Given the description of an element on the screen output the (x, y) to click on. 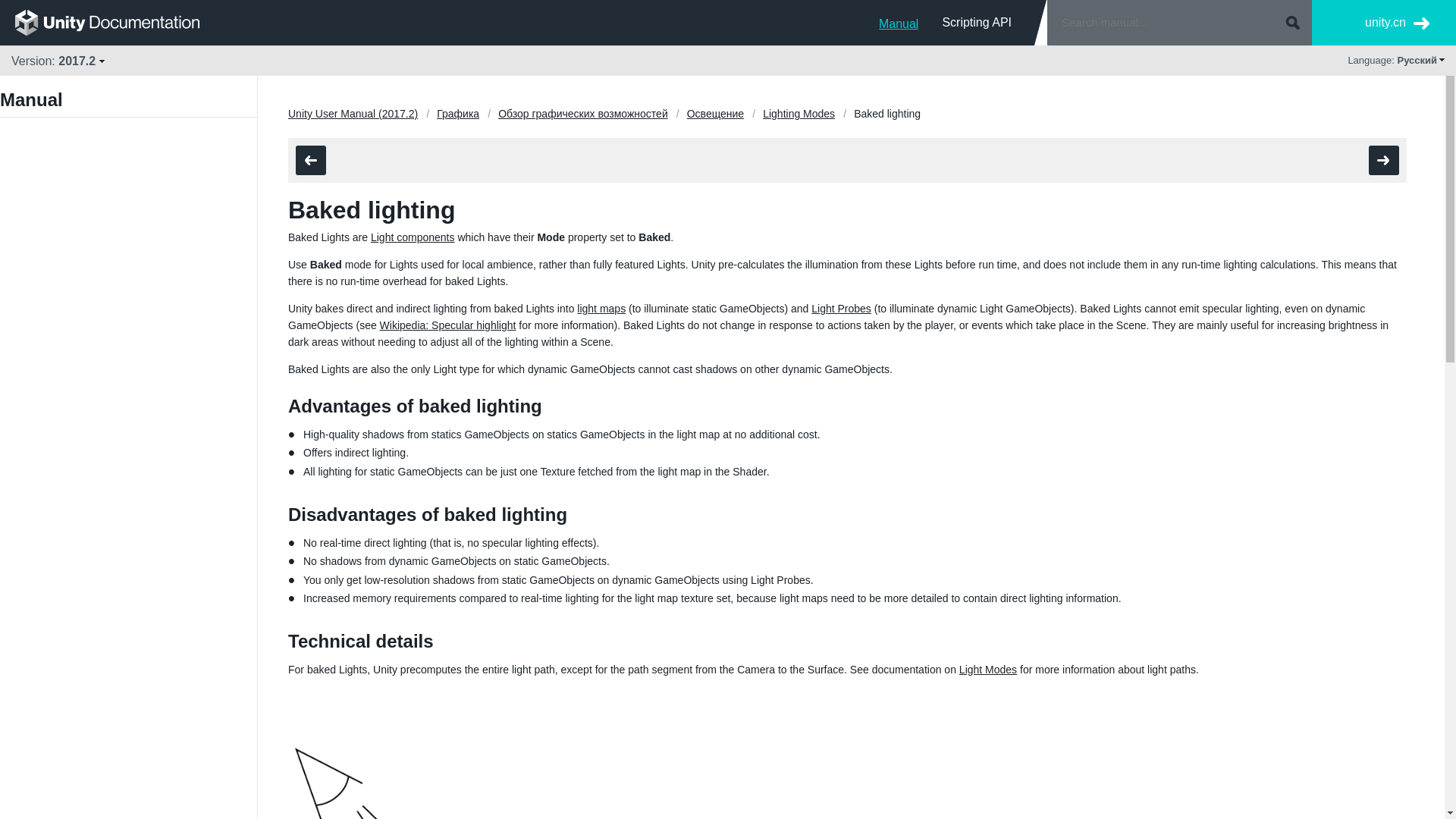
Scripting API (976, 22)
Manual (898, 22)
unity.cn (1397, 22)
